Given the description of an element on the screen output the (x, y) to click on. 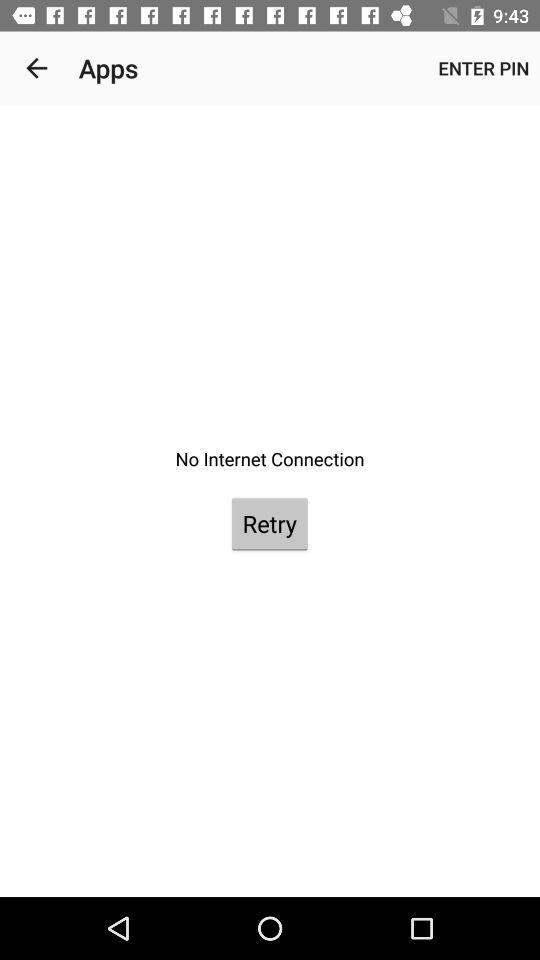
tap the item next to the apps item (483, 67)
